Given the description of an element on the screen output the (x, y) to click on. 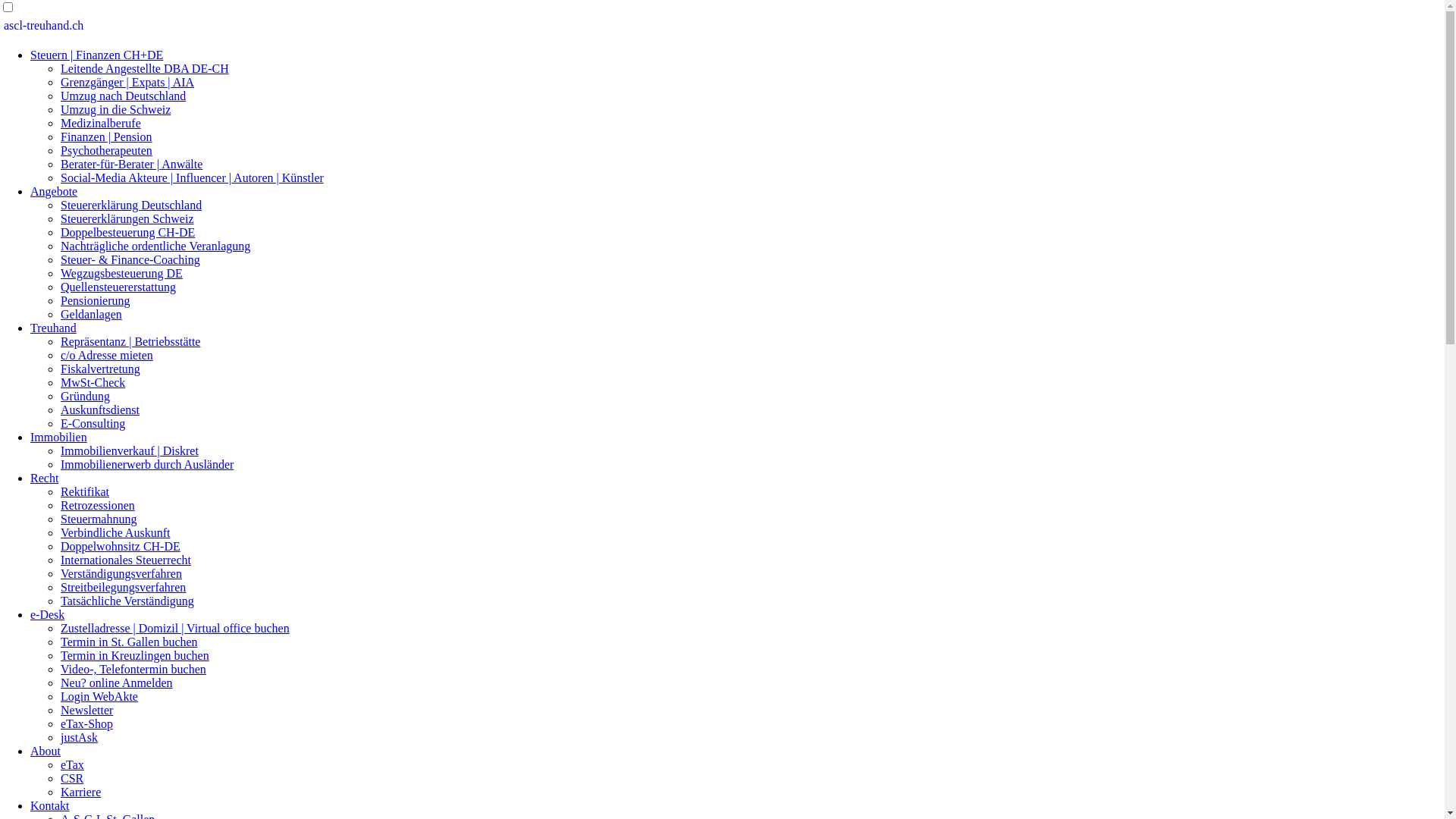
Pensionierung Element type: text (95, 300)
Psychotherapeuten Element type: text (106, 150)
Leitende Angestellte DBA DE-CH Element type: text (144, 68)
Rektifikat Element type: text (84, 491)
Streitbeilegungsverfahren Element type: text (122, 586)
e-Desk Element type: text (47, 614)
Retrozessionen Element type: text (97, 504)
MwSt-Check Element type: text (92, 382)
Doppelwohnsitz CH-DE Element type: text (120, 545)
eTax-Shop Element type: text (86, 723)
Internationales Steuerrecht Element type: text (125, 559)
Login WebAkte Element type: text (99, 696)
Steuern | Finanzen CH+DE Element type: text (96, 54)
eTax Element type: text (72, 764)
Immobilienverkauf | Diskret Element type: text (129, 450)
Wegzugsbesteuerung DE Element type: text (121, 272)
Verbindliche Auskunft Element type: text (114, 532)
Newsletter Element type: text (86, 709)
Angebote Element type: text (53, 191)
Termin in Kreuzlingen buchen Element type: text (134, 655)
ascl-treuhand.ch Element type: text (43, 24)
About Element type: text (45, 750)
Auskunftsdienst Element type: text (99, 409)
Steuer- & Finance-Coaching Element type: text (130, 259)
Umzug in die Schweiz Element type: text (115, 109)
Treuhand Element type: text (53, 327)
Umzug nach Deutschland Element type: text (122, 95)
justAsk Element type: text (78, 737)
Recht Element type: text (44, 477)
Steuermahnung Element type: text (98, 518)
Neu? online Anmelden Element type: text (116, 682)
c/o Adresse mieten Element type: text (106, 354)
E-Consulting Element type: text (92, 423)
Quellensteuererstattung Element type: text (117, 286)
Video-, Telefontermin buchen Element type: text (133, 668)
Finanzen | Pension Element type: text (106, 136)
Termin in St. Gallen buchen Element type: text (128, 641)
Immobilien Element type: text (58, 436)
Kontakt Element type: text (49, 805)
Fiskalvertretung Element type: text (100, 368)
Karriere Element type: text (80, 791)
Medizinalberufe Element type: text (100, 122)
CSR Element type: text (71, 777)
Geldanlagen Element type: text (91, 313)
Doppelbesteuerung CH-DE Element type: text (127, 231)
Zustelladresse | Domizil | Virtual office buchen Element type: text (174, 627)
